Given the description of an element on the screen output the (x, y) to click on. 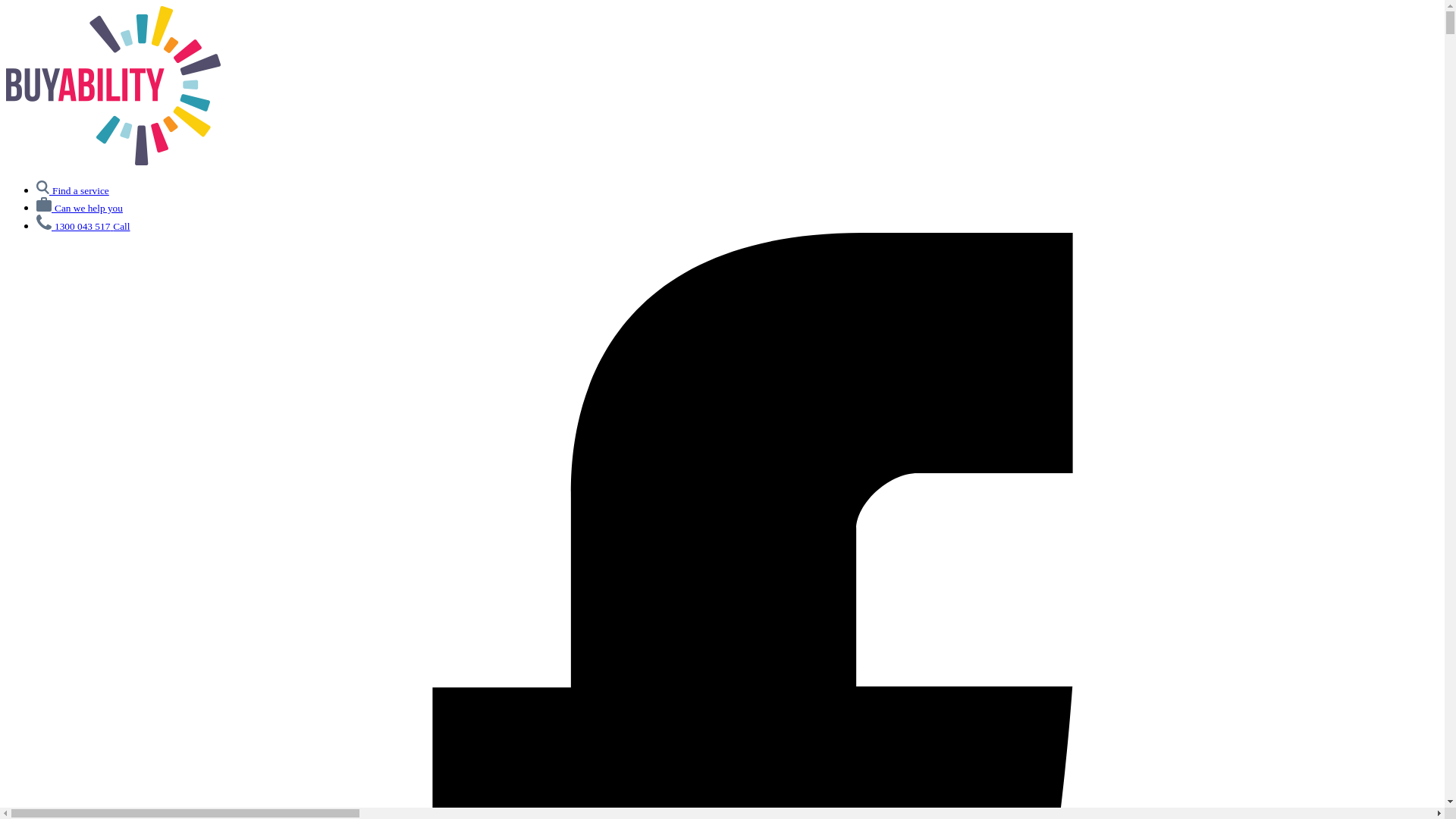
Find a service Element type: text (72, 189)
Can we help you Element type: text (79, 206)
BuyAbility - Social Procurement Specialists Element type: hover (113, 160)
1300 043 517 Call Element type: text (83, 225)
